Given the description of an element on the screen output the (x, y) to click on. 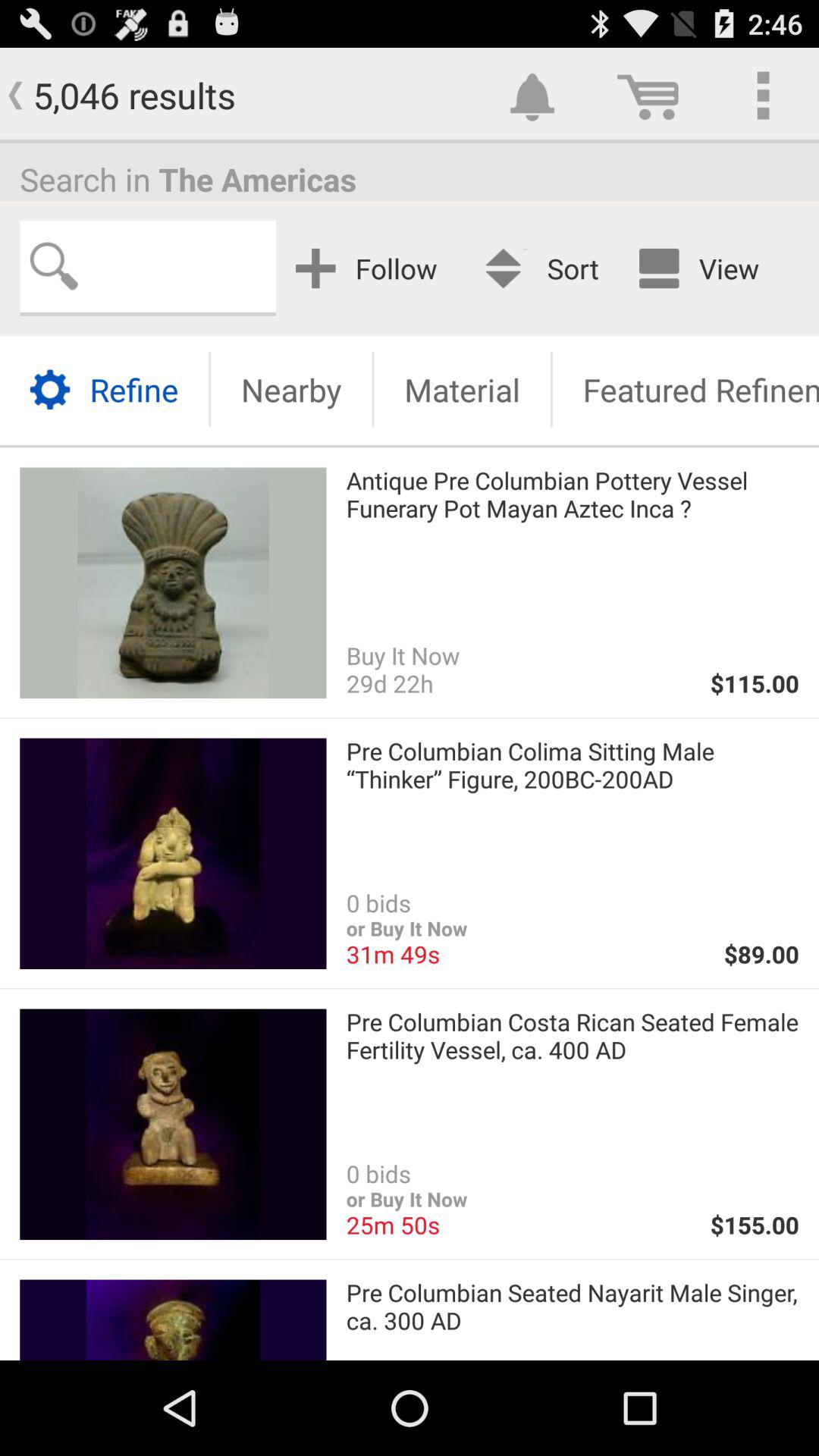
jump until nearby icon (291, 389)
